Given the description of an element on the screen output the (x, y) to click on. 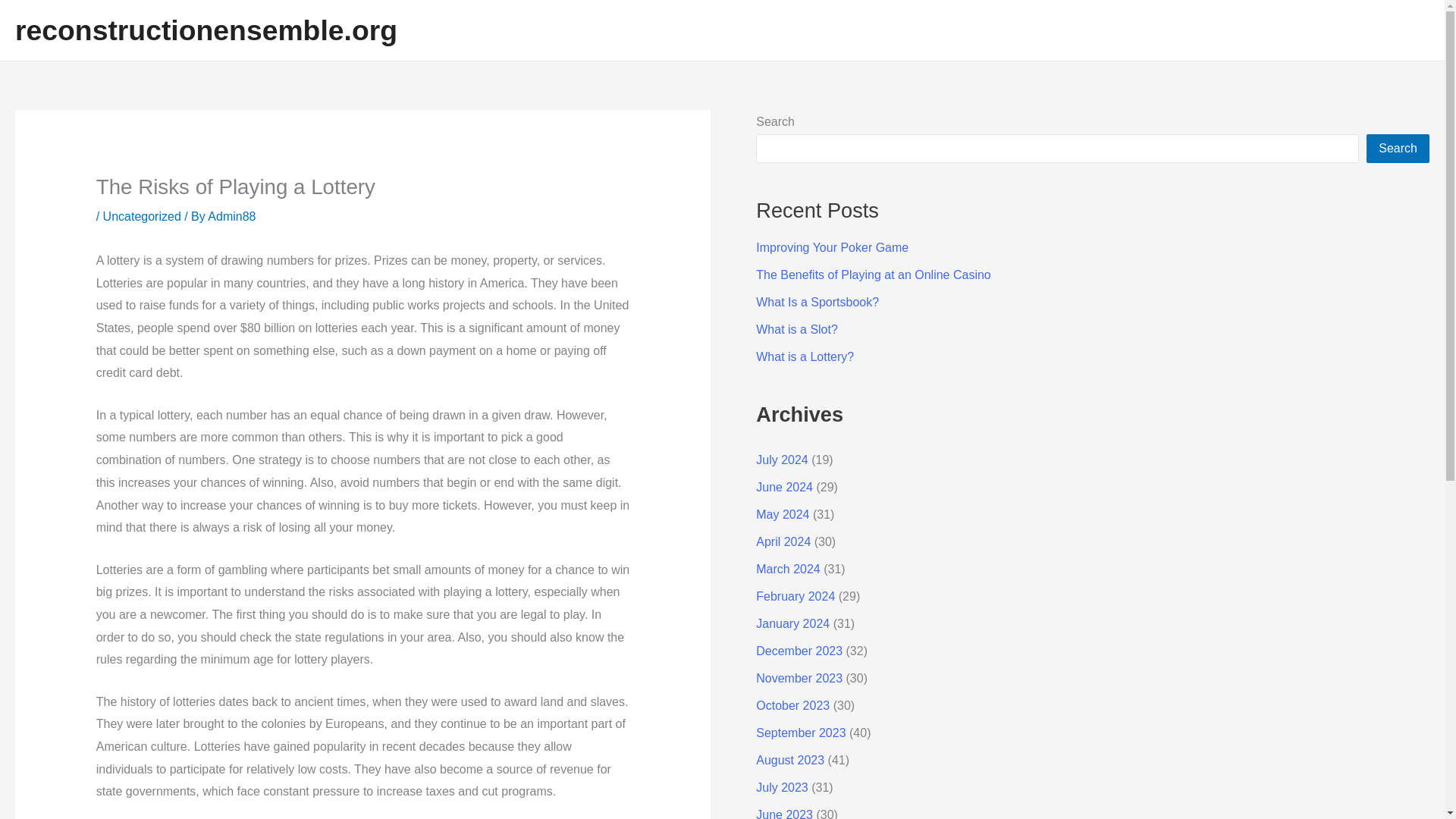
March 2024 (788, 568)
Improving Your Poker Game (831, 246)
July 2023 (781, 787)
August 2023 (789, 759)
Uncategorized (141, 215)
October 2023 (792, 705)
December 2023 (799, 650)
View all posts by Admin88 (232, 215)
November 2023 (799, 677)
January 2024 (792, 623)
February 2024 (794, 595)
September 2023 (800, 732)
Search (1398, 148)
April 2024 (782, 541)
What is a Lottery? (804, 356)
